Given the description of an element on the screen output the (x, y) to click on. 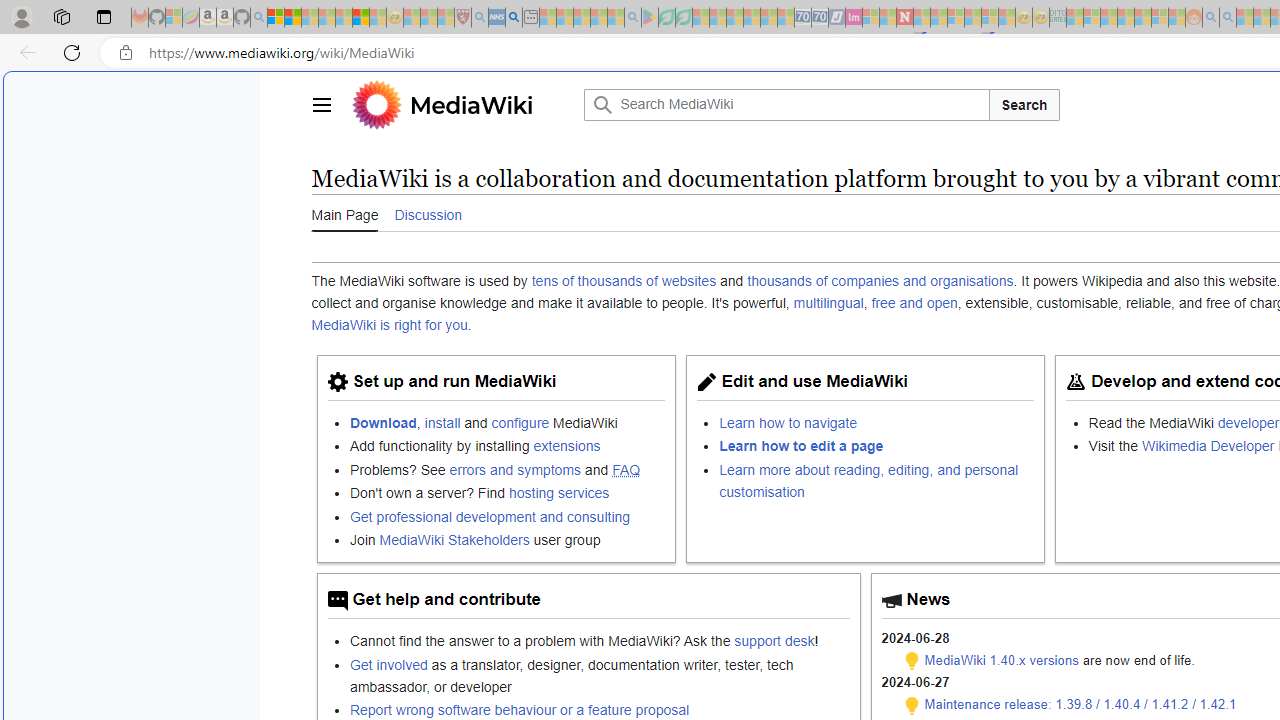
MediaWiki (461, 104)
Learn how to edit a page (877, 445)
Download (383, 422)
Search MediaWiki (785, 104)
MediaWiki Stakeholders (453, 539)
